Given the description of an element on the screen output the (x, y) to click on. 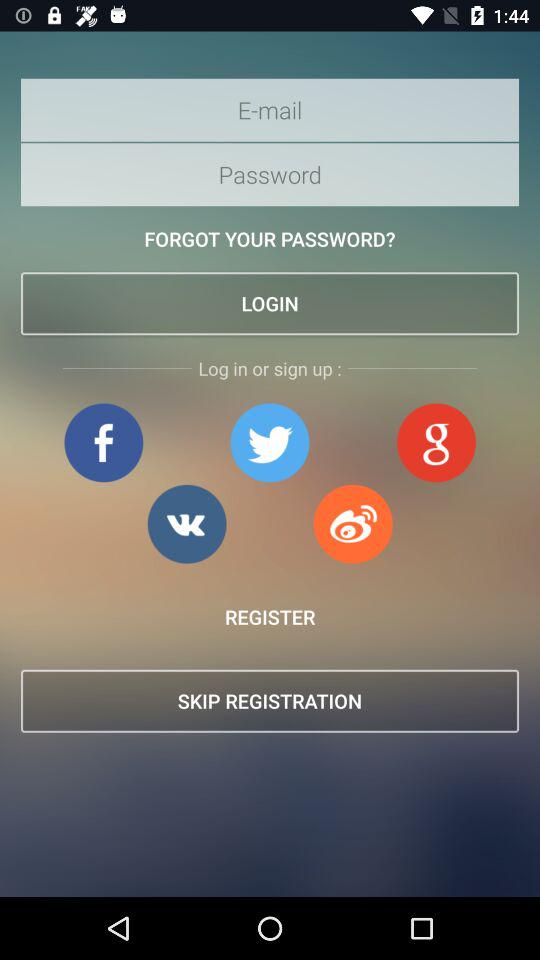
open twitter (269, 442)
